Given the description of an element on the screen output the (x, y) to click on. 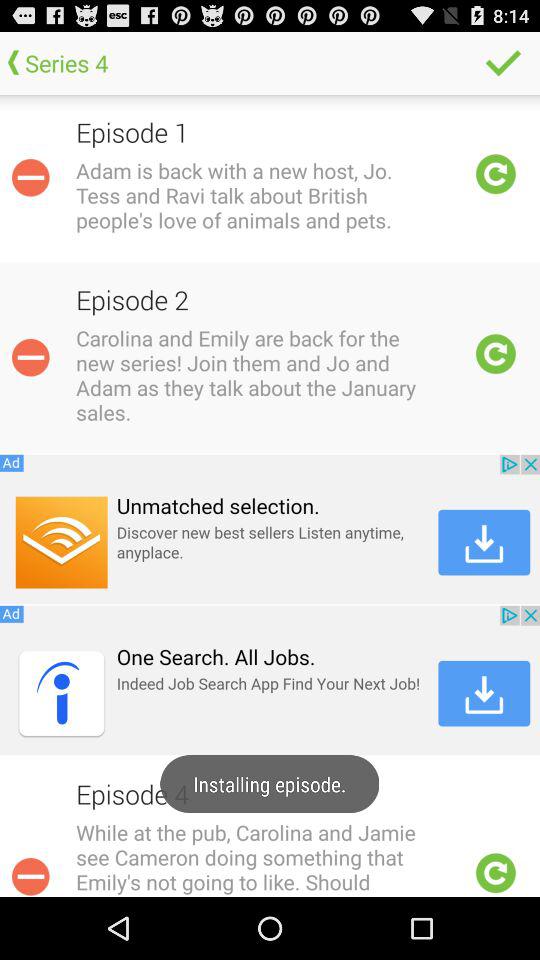
refresh episode (496, 354)
